Given the description of an element on the screen output the (x, y) to click on. 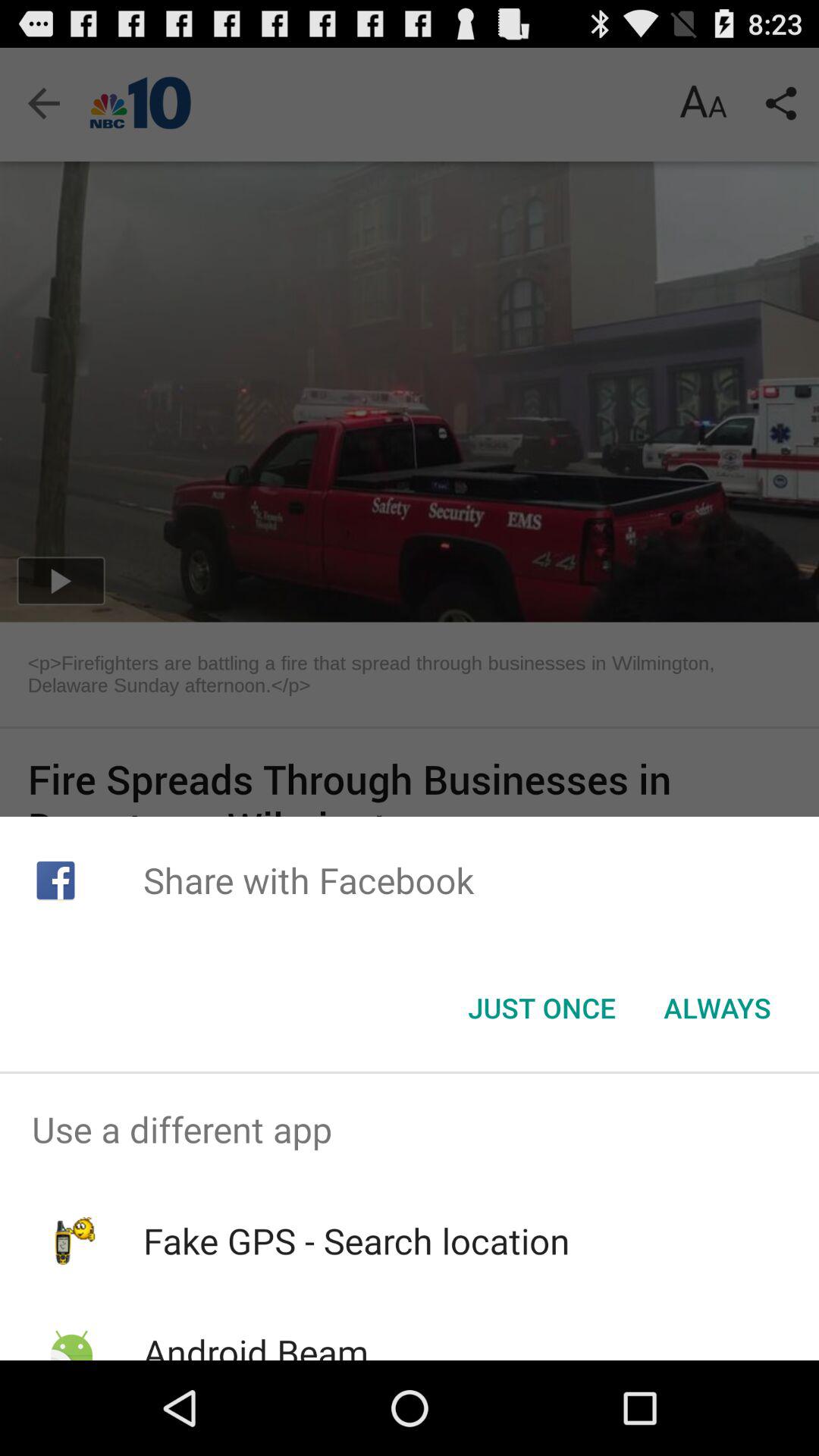
turn on icon to the right of the just once button (717, 1007)
